Given the description of an element on the screen output the (x, y) to click on. 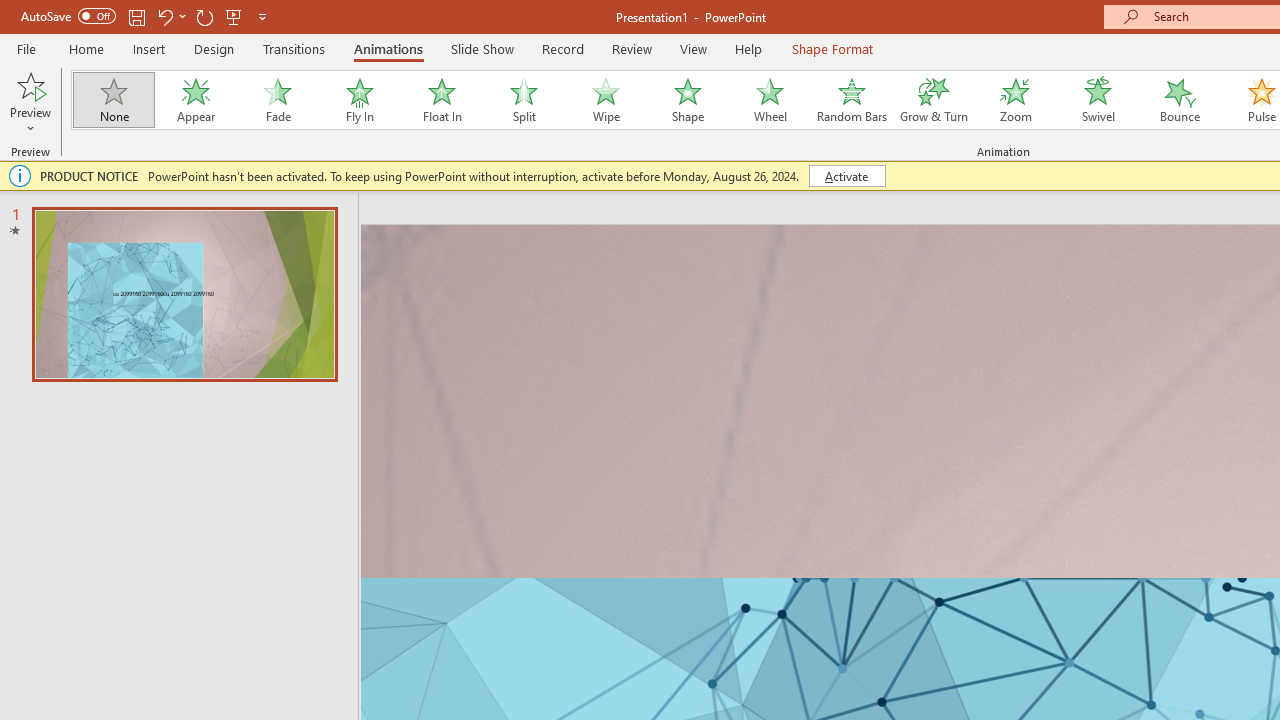
Random Bars (852, 100)
Fade (277, 100)
Fly In (359, 100)
None (113, 100)
Shape (687, 100)
Activate (846, 175)
Swivel (1098, 100)
